Given the description of an element on the screen output the (x, y) to click on. 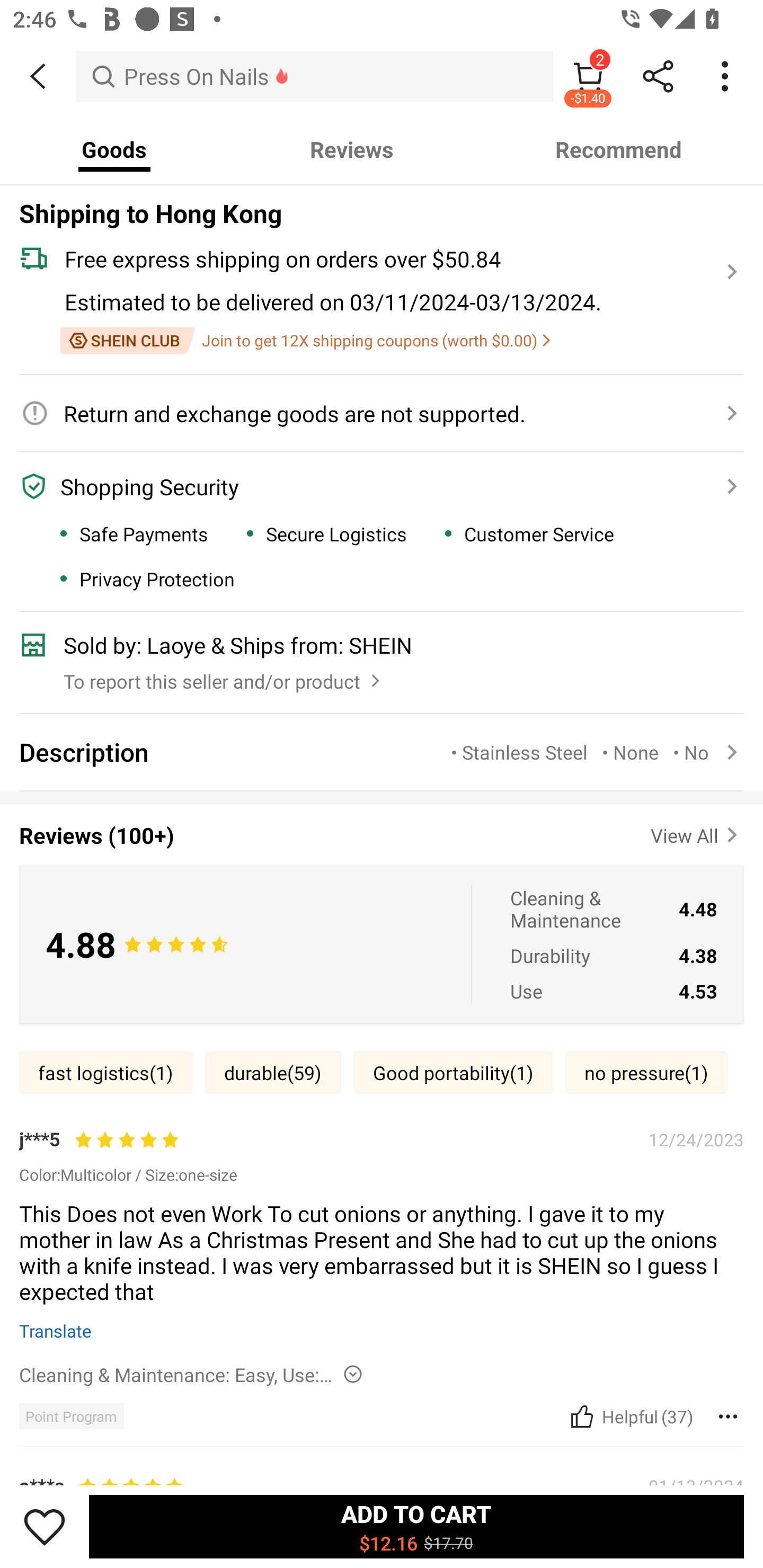
BACK (38, 75)
2 -$1.40 (588, 75)
Press On Nails (314, 75)
Goods (114, 149)
Reviews (351, 149)
Recommend (618, 149)
Join to get 12X shipping coupons (worth $0.00) (305, 340)
Return and exchange goods are not supported. (370, 412)
To report this seller and/or product   (224, 677)
fast logistics(1) (105, 1072)
durable(59) (273, 1072)
Good portability(1) (453, 1072)
no pressure(1) (646, 1072)
Translate (55, 1330)
Cancel Helpful Was this article helpful? (37) (629, 1415)
Point Program (71, 1415)
ADD TO CART $12.16 $17.70 (416, 1526)
Save (44, 1526)
